Given the description of an element on the screen output the (x, y) to click on. 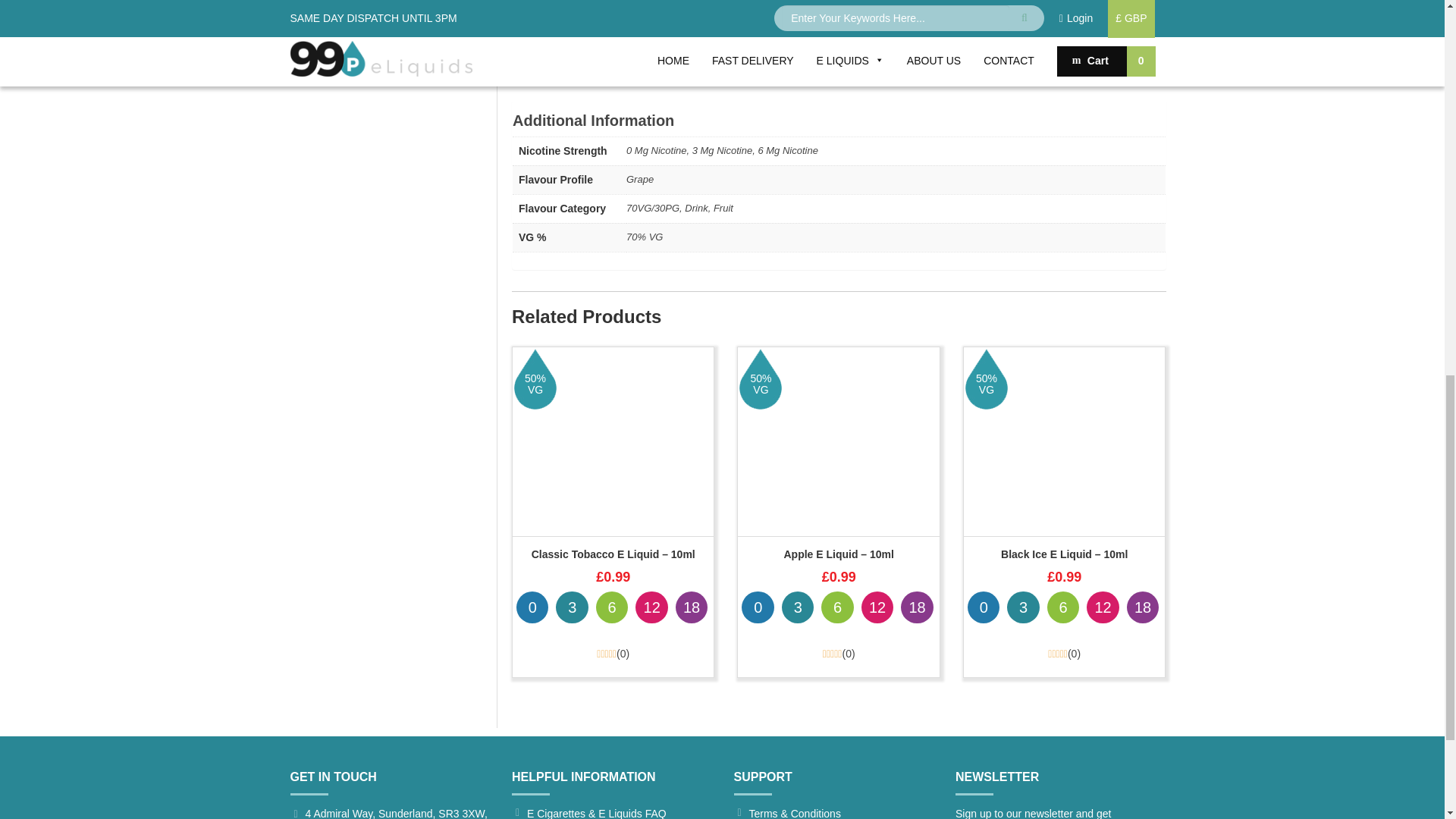
0 mg Nicotine Strength is in Stock (757, 607)
0 mg Nicotine Strength is in Stock (532, 607)
3 mg Nicotine Strength is in Stock (572, 607)
18 mg Nicotine Strength is in Stock (691, 607)
12 mg Nicotine Strength is in Stock (650, 607)
6 mg Nicotine Strength is in Stock (611, 607)
